Given the description of an element on the screen output the (x, y) to click on. 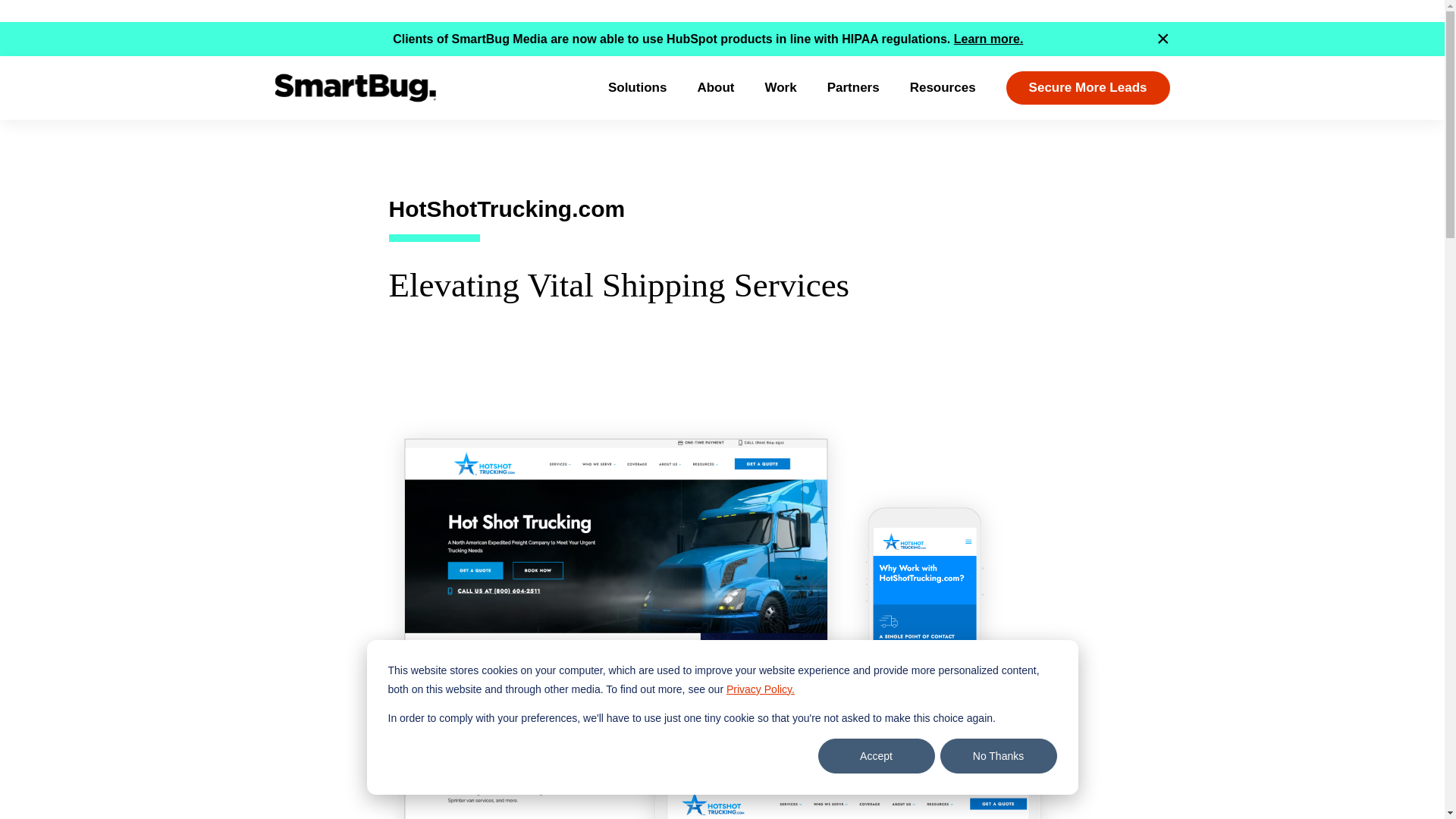
Secure More Leads (1088, 87)
Solutions (637, 87)
Learn more. (988, 38)
Work (780, 87)
About (715, 87)
